Given the description of an element on the screen output the (x, y) to click on. 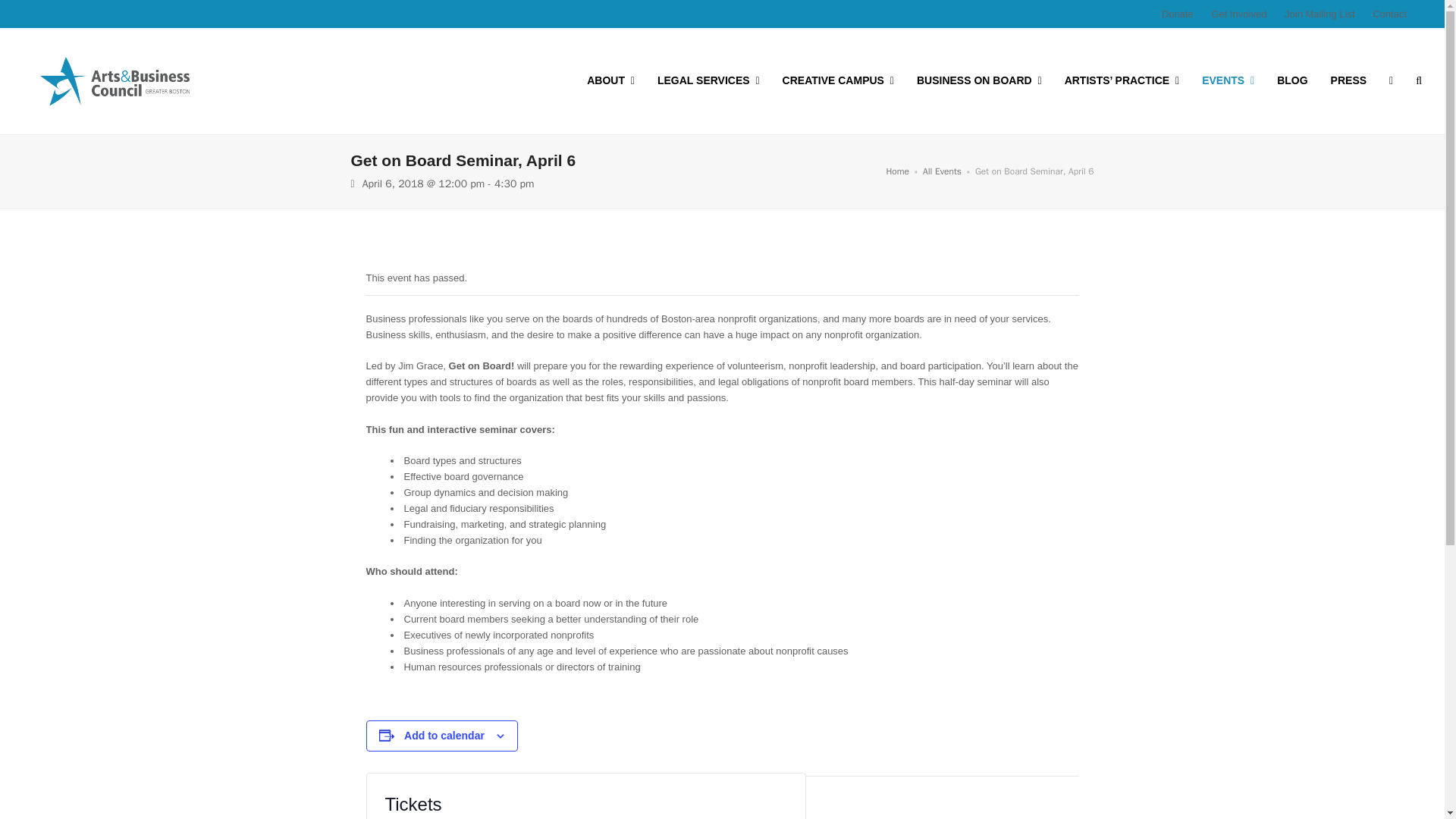
BLOG (1292, 80)
CREATIVE CAMPUS (838, 80)
BUSINESS ON BOARD (978, 80)
Contact (1389, 13)
Join Mailing List (1319, 13)
PRESS (1348, 80)
Donate (1177, 13)
LEGAL SERVICES (708, 80)
Get Involved (1238, 13)
ABOUT (610, 80)
